Given the description of an element on the screen output the (x, y) to click on. 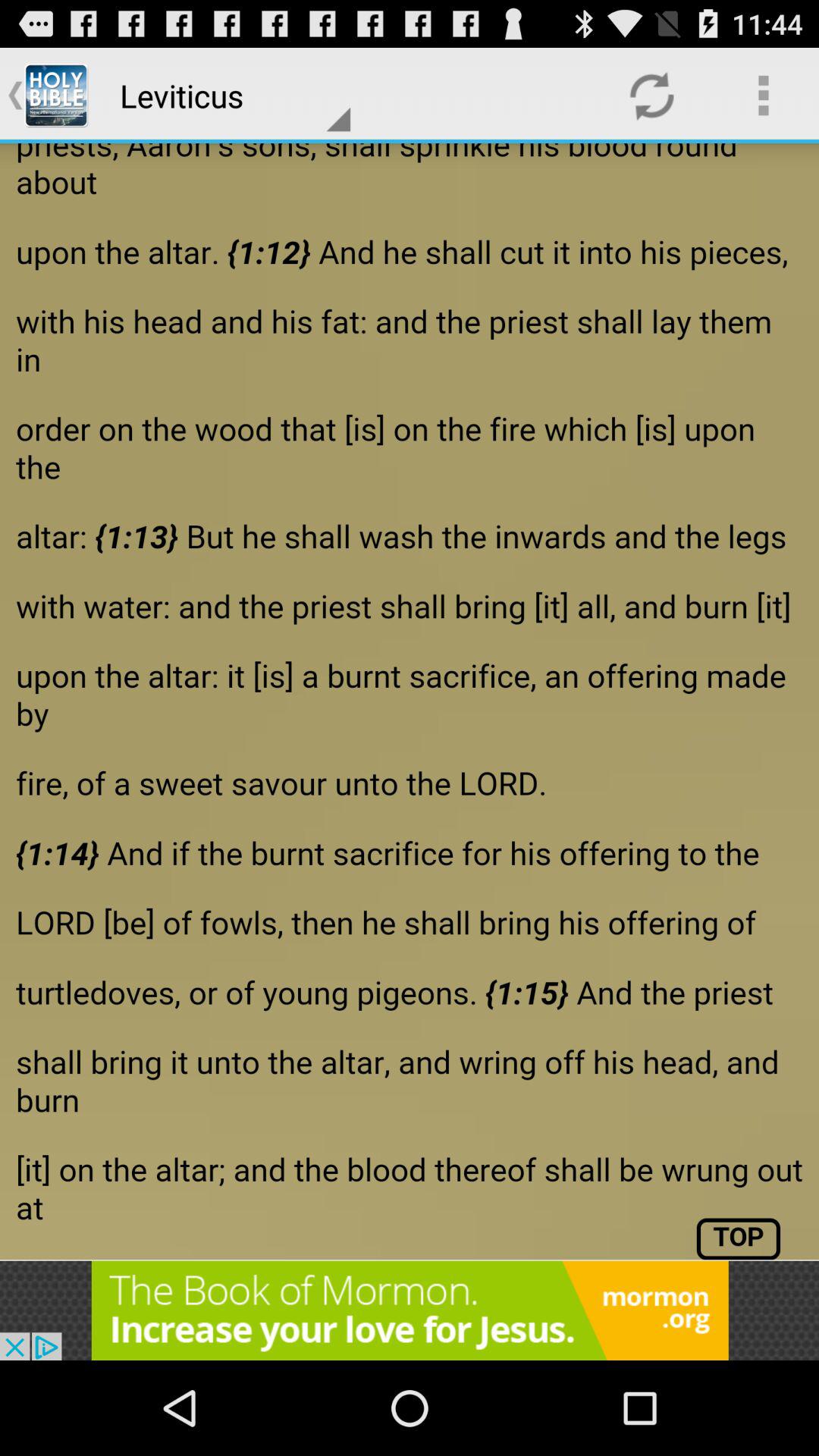
go to advertisement website (409, 1310)
